Given the description of an element on the screen output the (x, y) to click on. 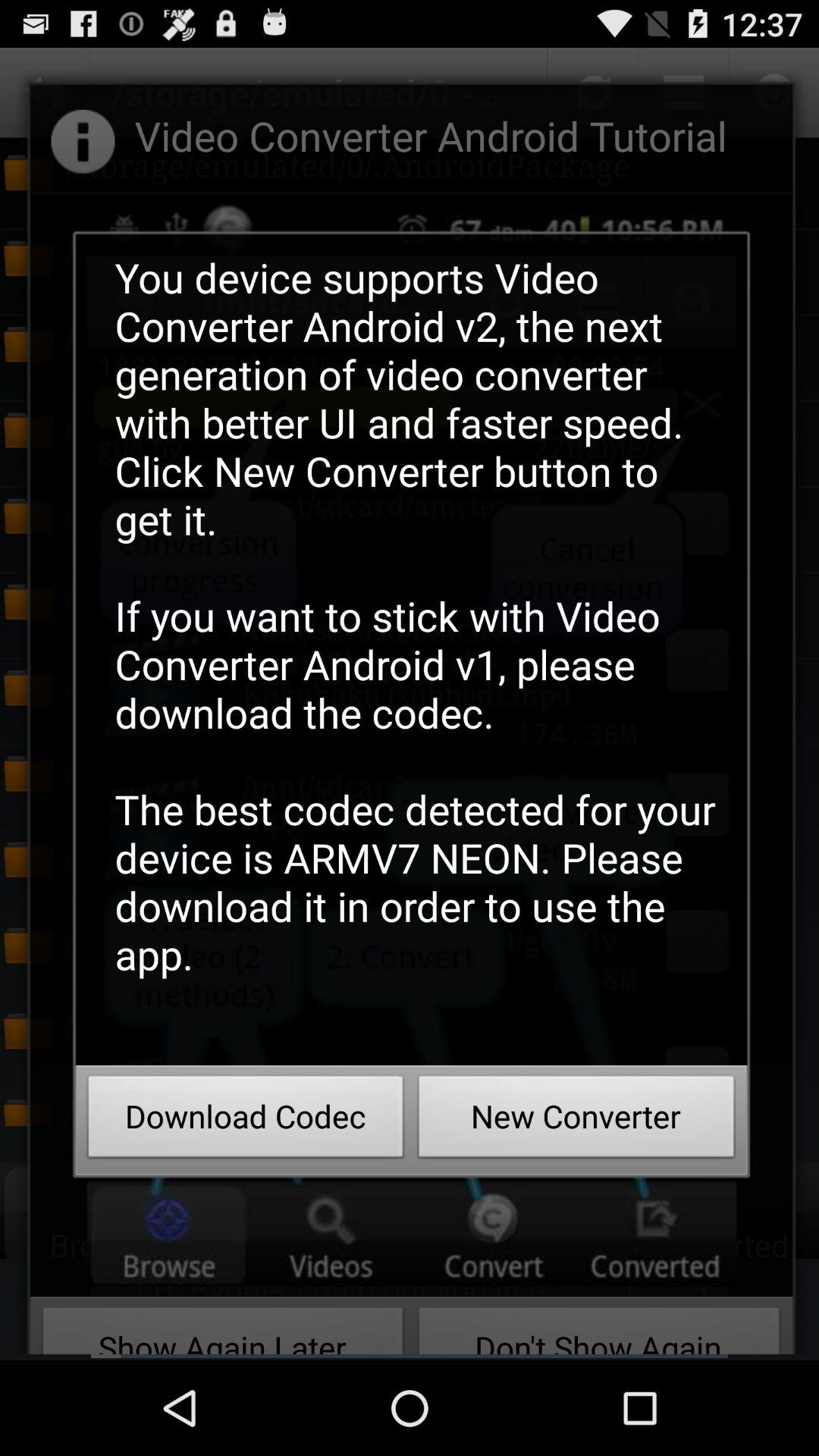
select app below you device supports (245, 1120)
